Given the description of an element on the screen output the (x, y) to click on. 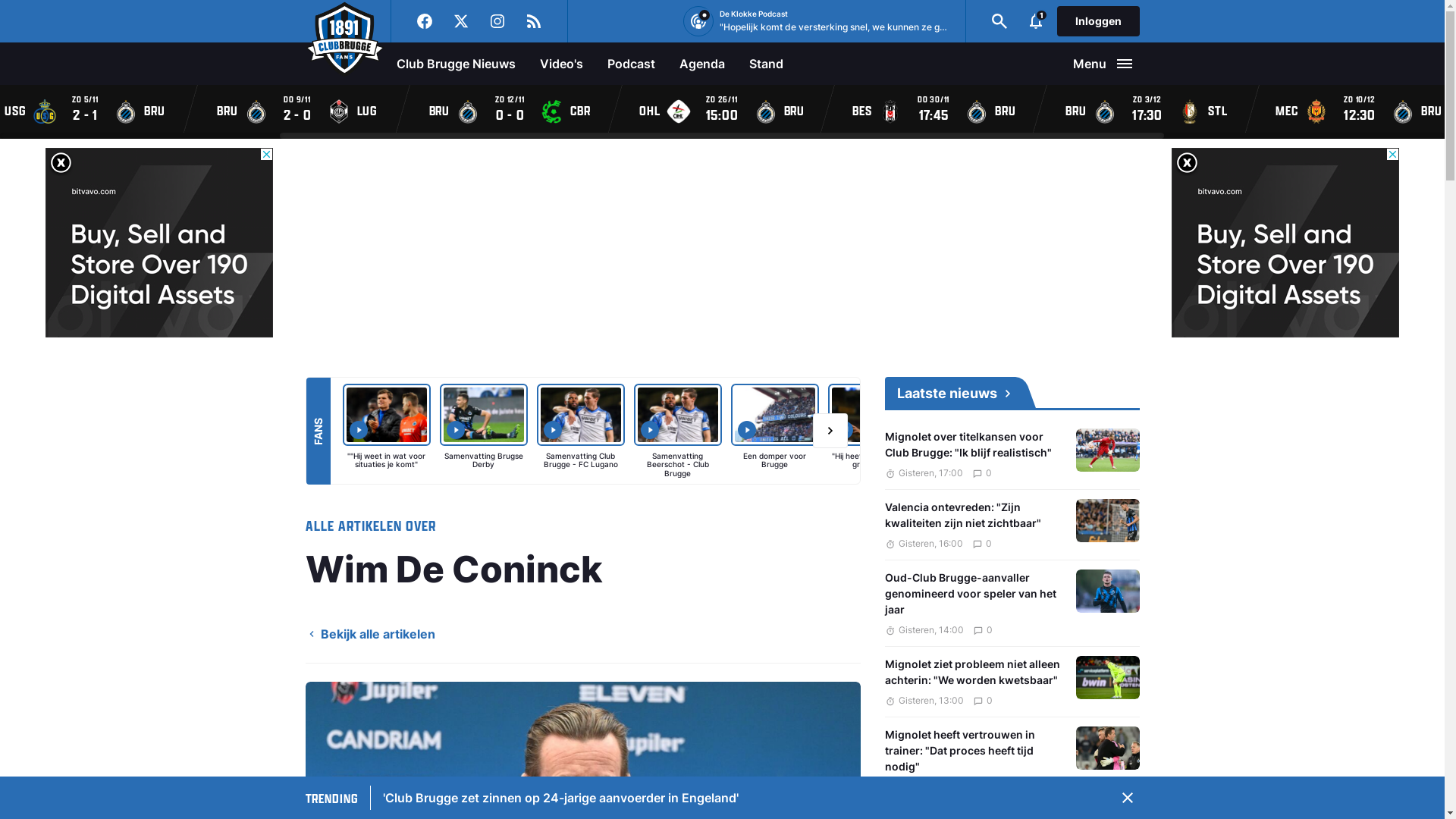
Samenvatting Club Brugge - FC Lugano Element type: text (584, 430)
""Hij weet in wat voor situaties je komt" Element type: text (390, 430)
Een domper voor Brugge Element type: text (779, 430)
Stand Element type: text (766, 63)
Bekijk alle artikelen Element type: text (369, 633)
Video's Element type: text (561, 63)
Podcast Element type: text (630, 63)
"Hij heeft meteen een grote bek" Element type: text (876, 430)
Club Brugge Nieuws Element type: text (454, 63)
Inloggen Element type: text (1098, 21)
Laatste nieuws Element type: text (1011, 393)
Advertisement Element type: hover (159, 374)
Samenvatting Beerschot - Club Brugge Element type: text (682, 430)
'Club Brugge zet zinnen op 24-jarige aanvoerder in Engeland' Element type: text (560, 797)
Advertisement Element type: hover (1285, 374)
Agenda Element type: text (702, 63)
Samenvatting Brugse Derby Element type: text (487, 430)
